Given the description of an element on the screen output the (x, y) to click on. 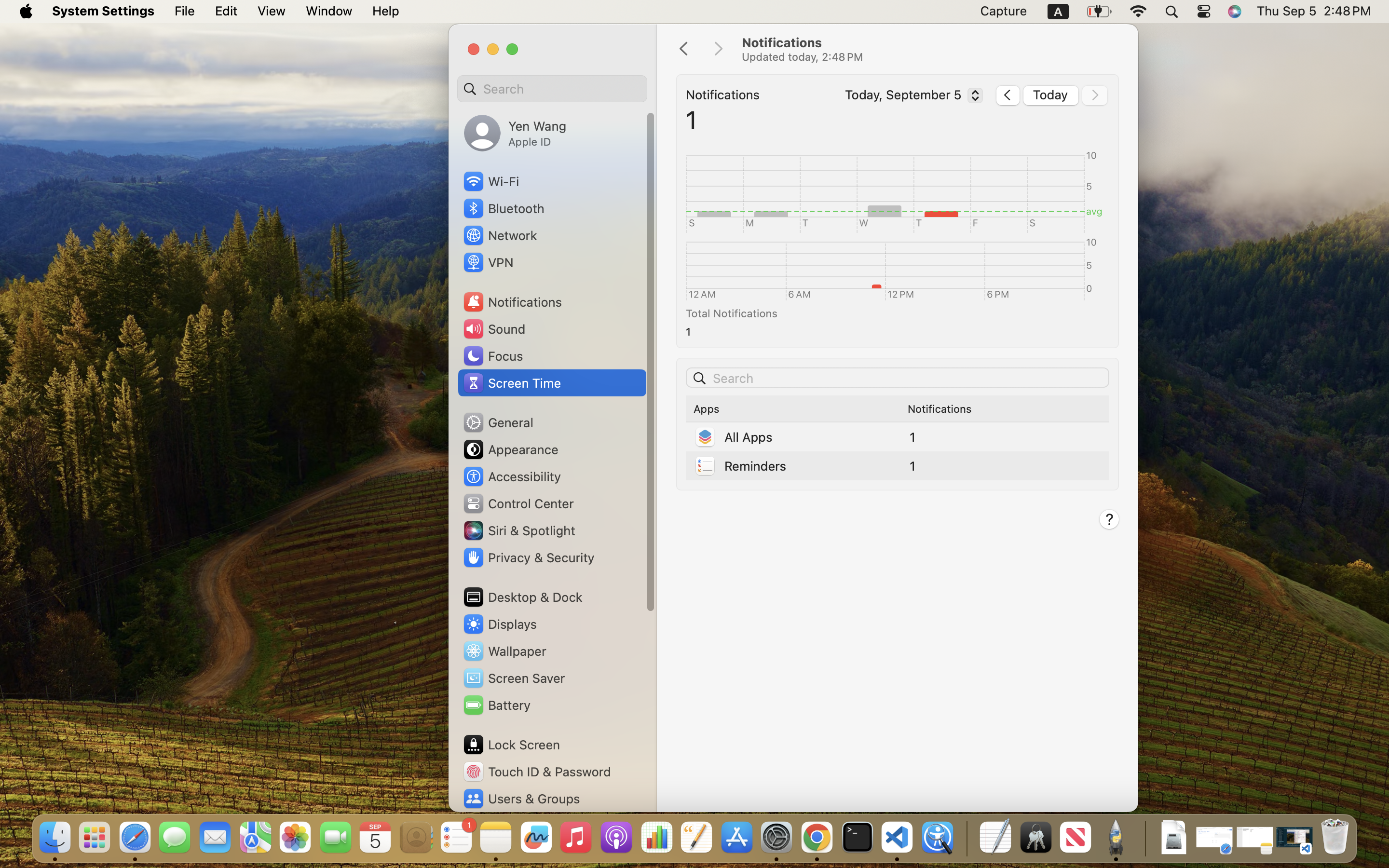
Touch ID & Password Element type: AXStaticText (536, 771)
Bluetooth Element type: AXStaticText (503, 207)
Wi‑Fi Element type: AXStaticText (490, 180)
Sound Element type: AXStaticText (493, 328)
Users & Groups Element type: AXStaticText (520, 798)
